Given the description of an element on the screen output the (x, y) to click on. 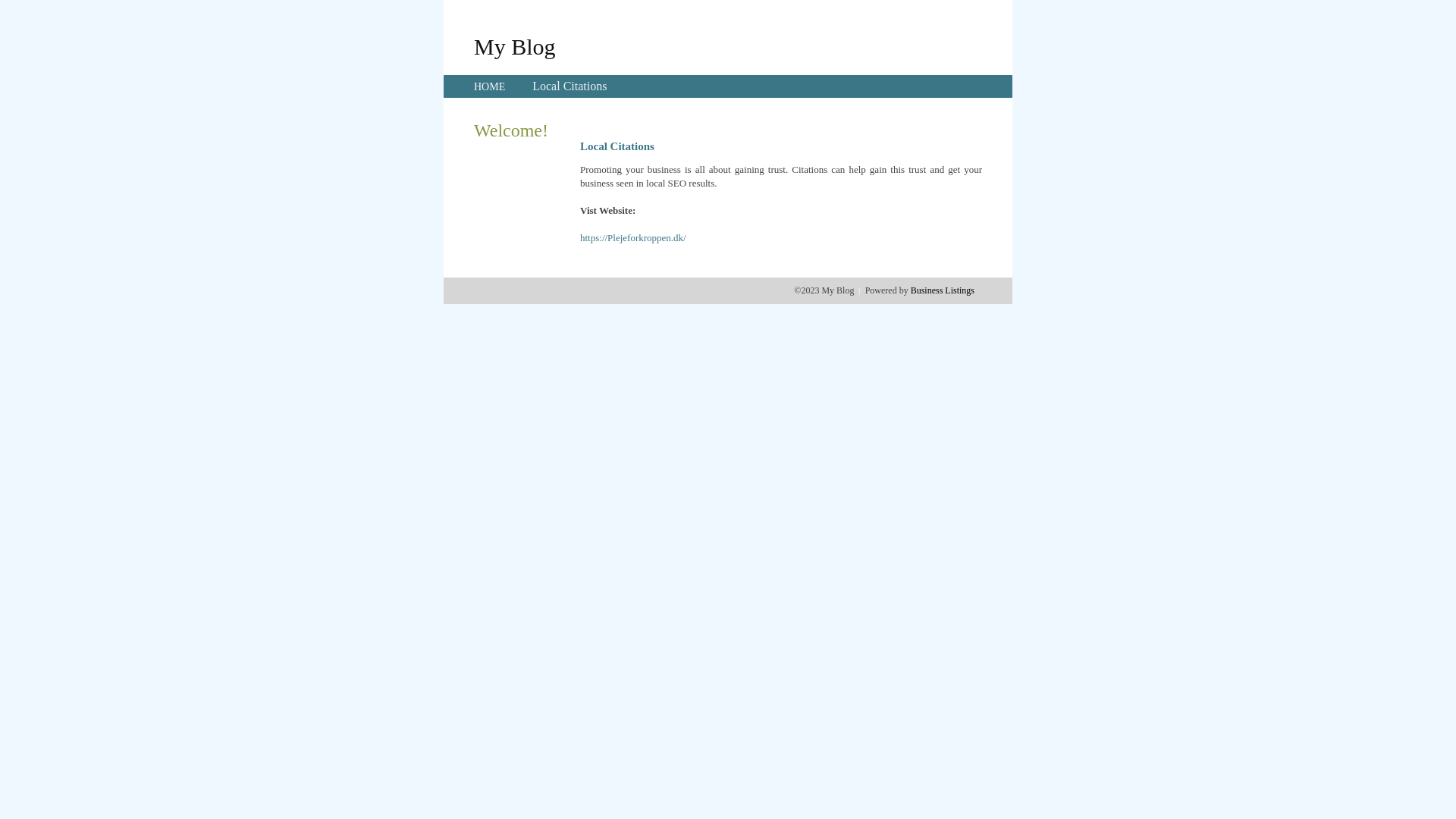
HOME Element type: text (489, 86)
Business Listings Element type: text (942, 290)
Local Citations Element type: text (569, 85)
My Blog Element type: text (514, 46)
https://Plejeforkroppen.dk/ Element type: text (633, 237)
